Given the description of an element on the screen output the (x, y) to click on. 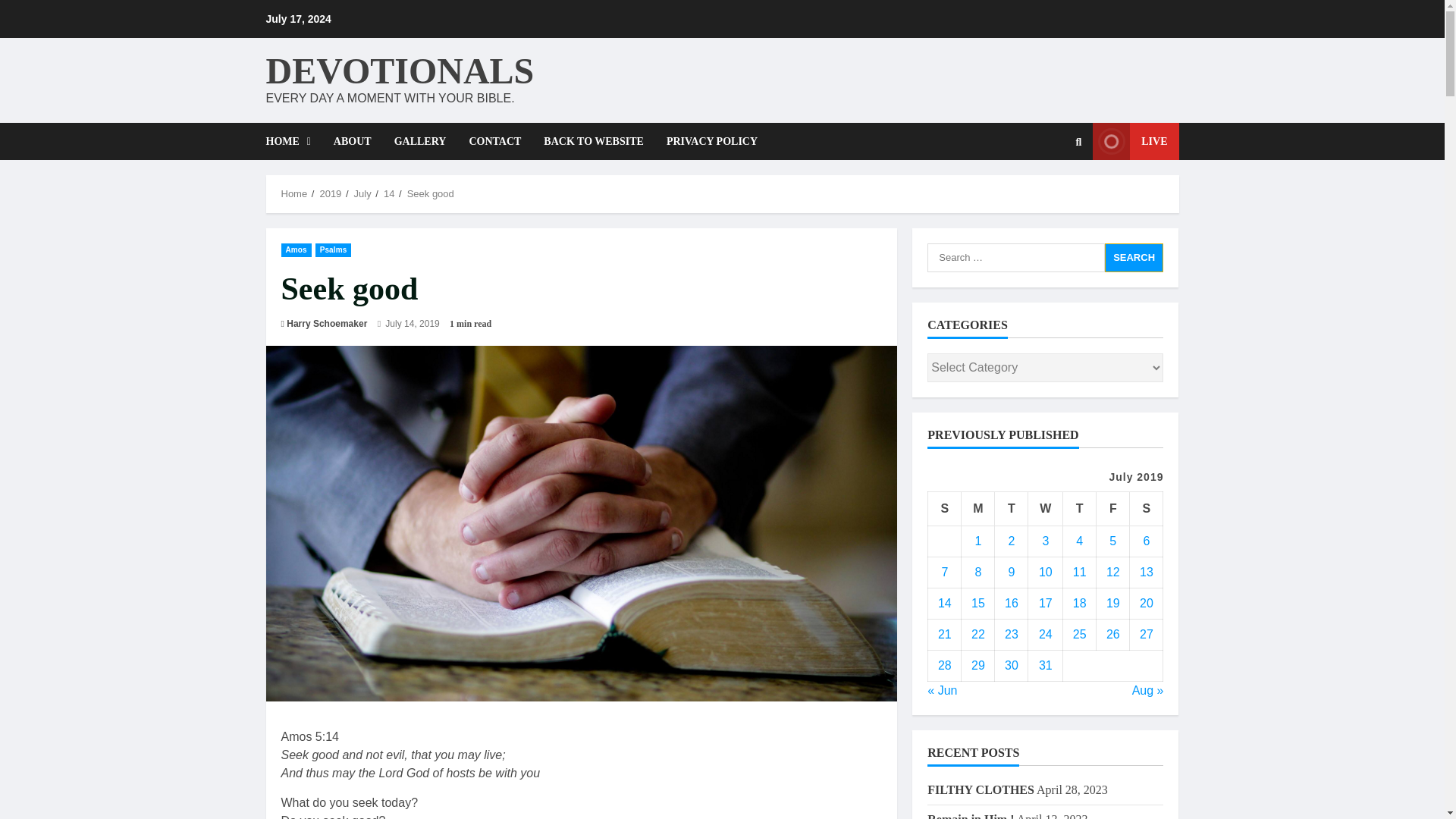
Search (1134, 256)
Saturday (1146, 508)
Search (1134, 256)
Tuesday (1010, 508)
Wednesday (1044, 508)
HOME (292, 140)
Monday (977, 508)
Friday (1112, 508)
DEVOTIONALS (399, 70)
Search (1078, 141)
Sunday (944, 508)
Thursday (1079, 508)
